Given the description of an element on the screen output the (x, y) to click on. 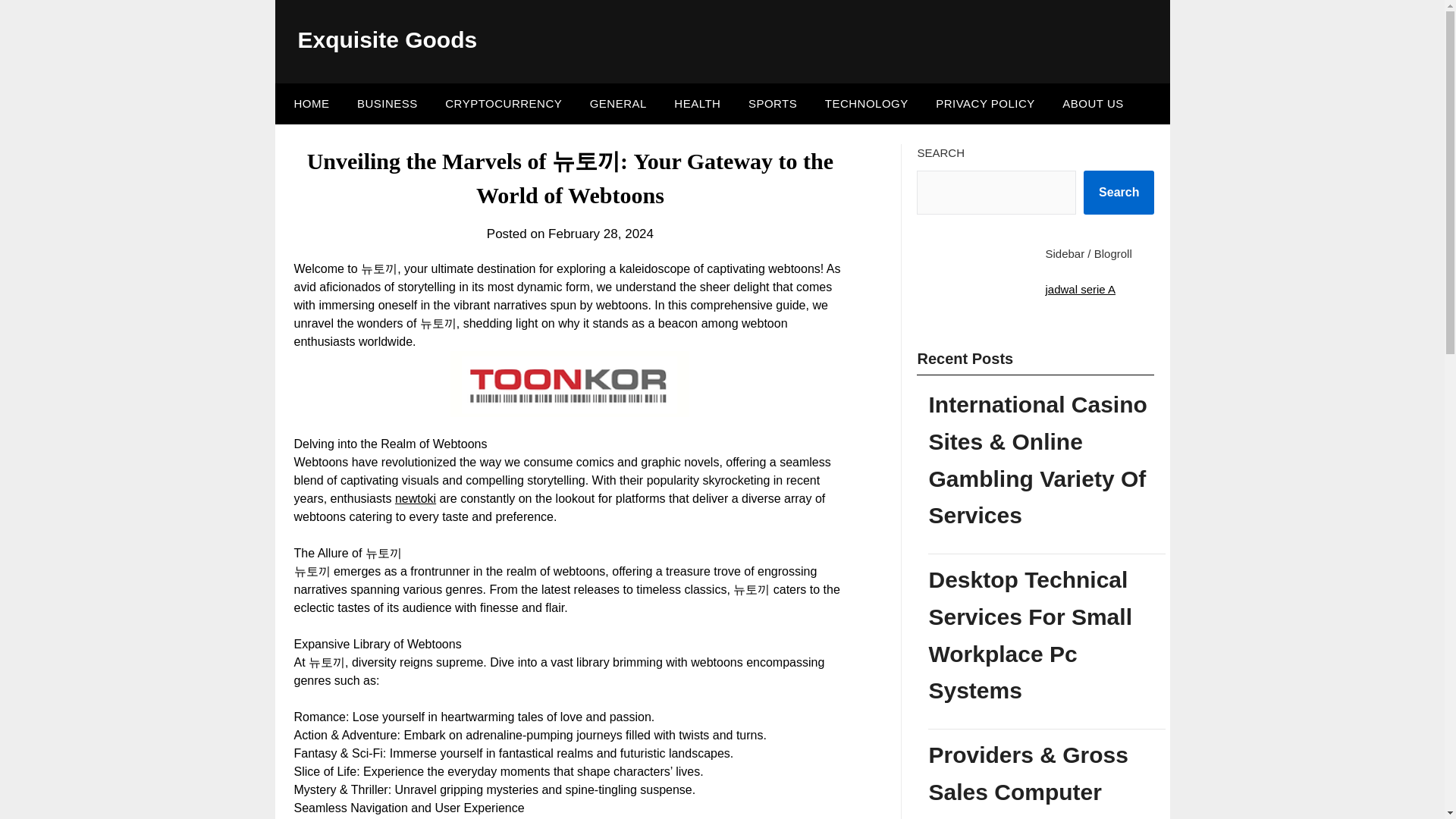
SPORTS (772, 103)
GENERAL (618, 103)
BUSINESS (387, 103)
Search (1118, 192)
CRYPTOCURRENCY (502, 103)
HOME (307, 103)
TECHNOLOGY (866, 103)
Exquisite Goods (387, 39)
ABOUT US (1092, 103)
Desktop Technical Services For Small Workplace Pc Systems (1047, 635)
HEALTH (697, 103)
jadwal serie A (1080, 288)
newtoki (414, 498)
PRIVACY POLICY (984, 103)
